Given the description of an element on the screen output the (x, y) to click on. 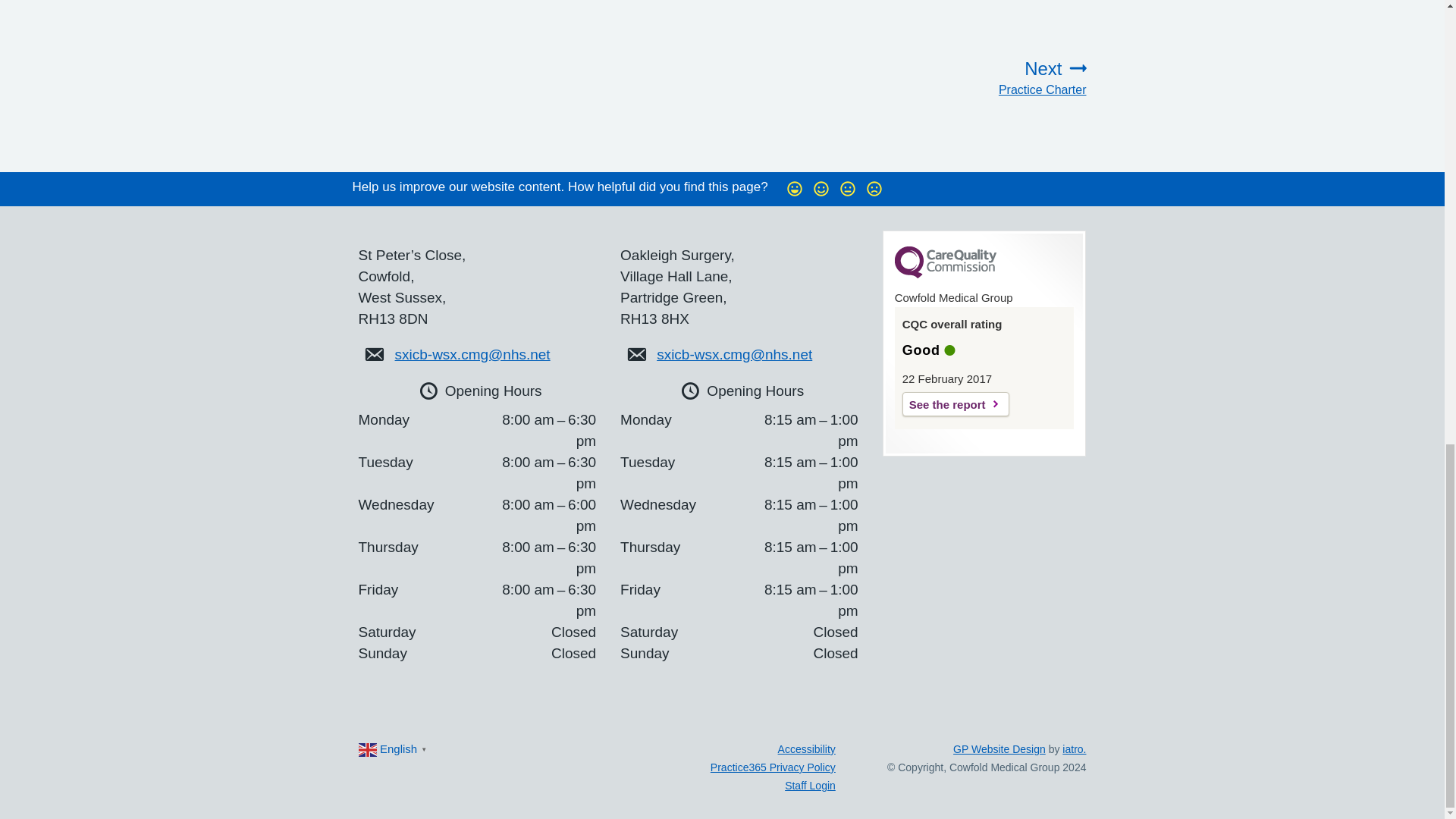
See the report (976, 77)
CQC Logo (955, 404)
